Given the description of an element on the screen output the (x, y) to click on. 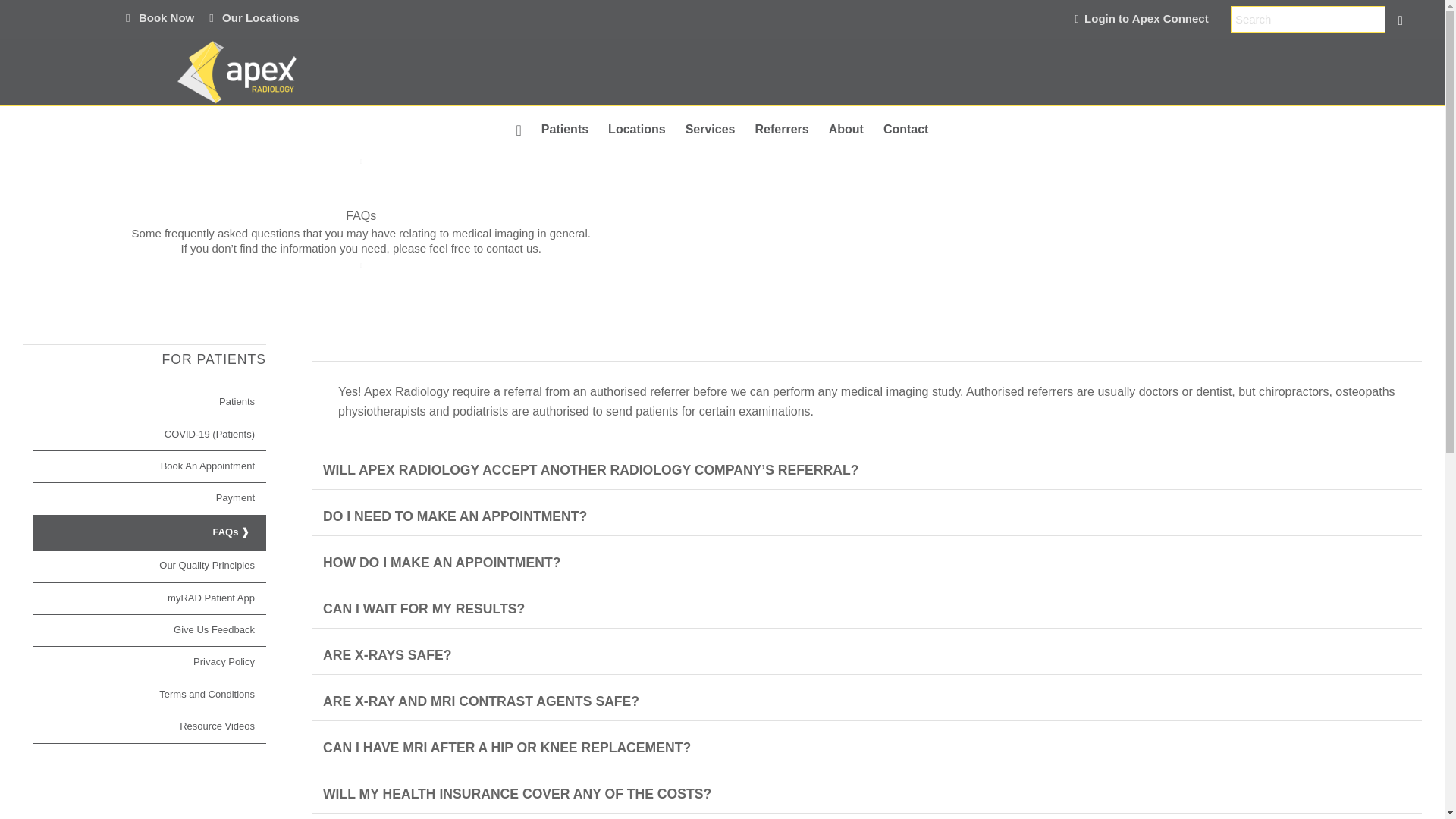
Locations (636, 128)
Patients (564, 128)
  Book Now (159, 17)
Services (710, 128)
Apex-Radiology-logo (235, 71)
Login to Apex Connect (1150, 18)
  Our Locations (254, 17)
